Given the description of an element on the screen output the (x, y) to click on. 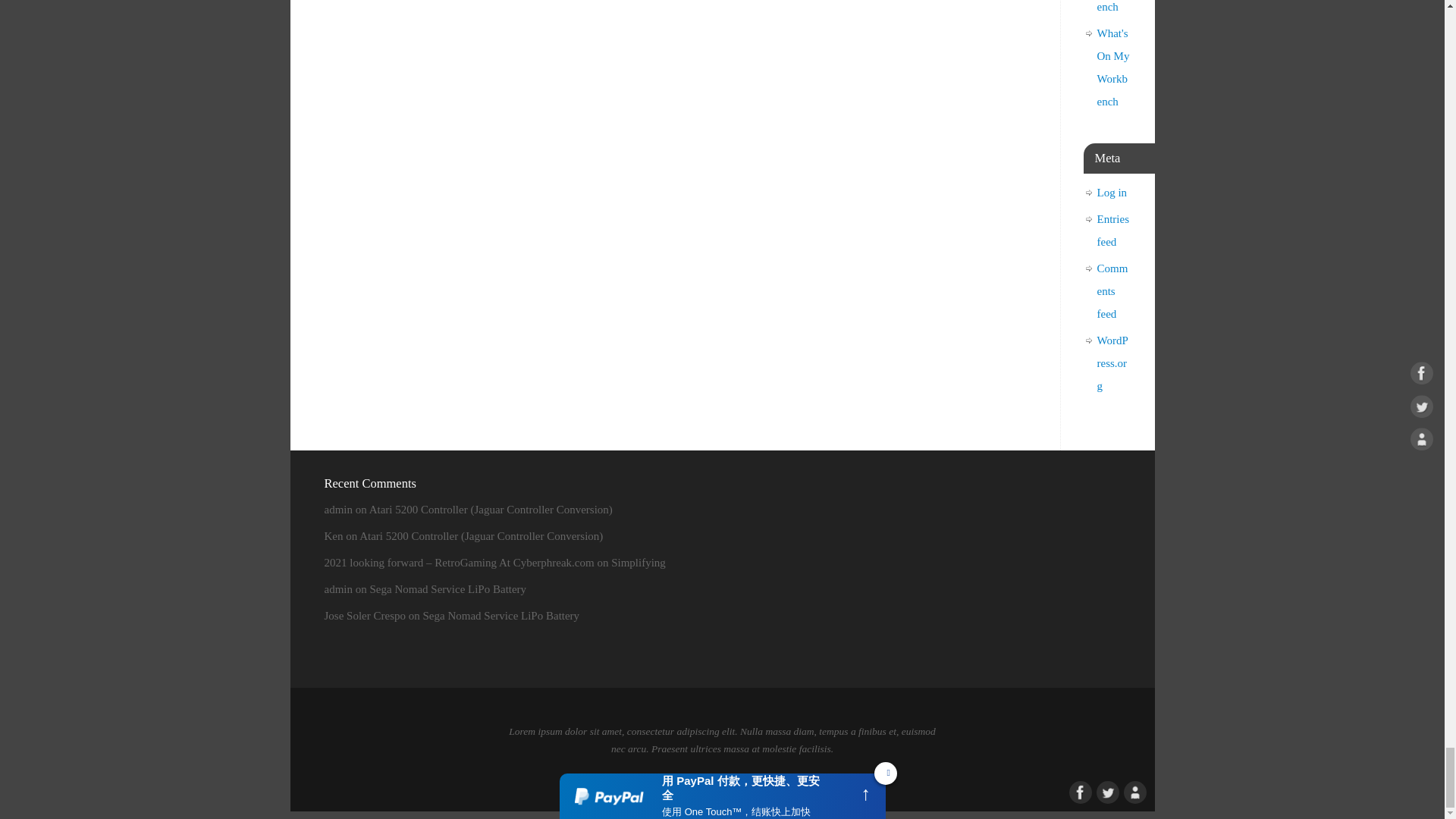
RetroGaming At Cyberphreak.com (648, 779)
